Given the description of an element on the screen output the (x, y) to click on. 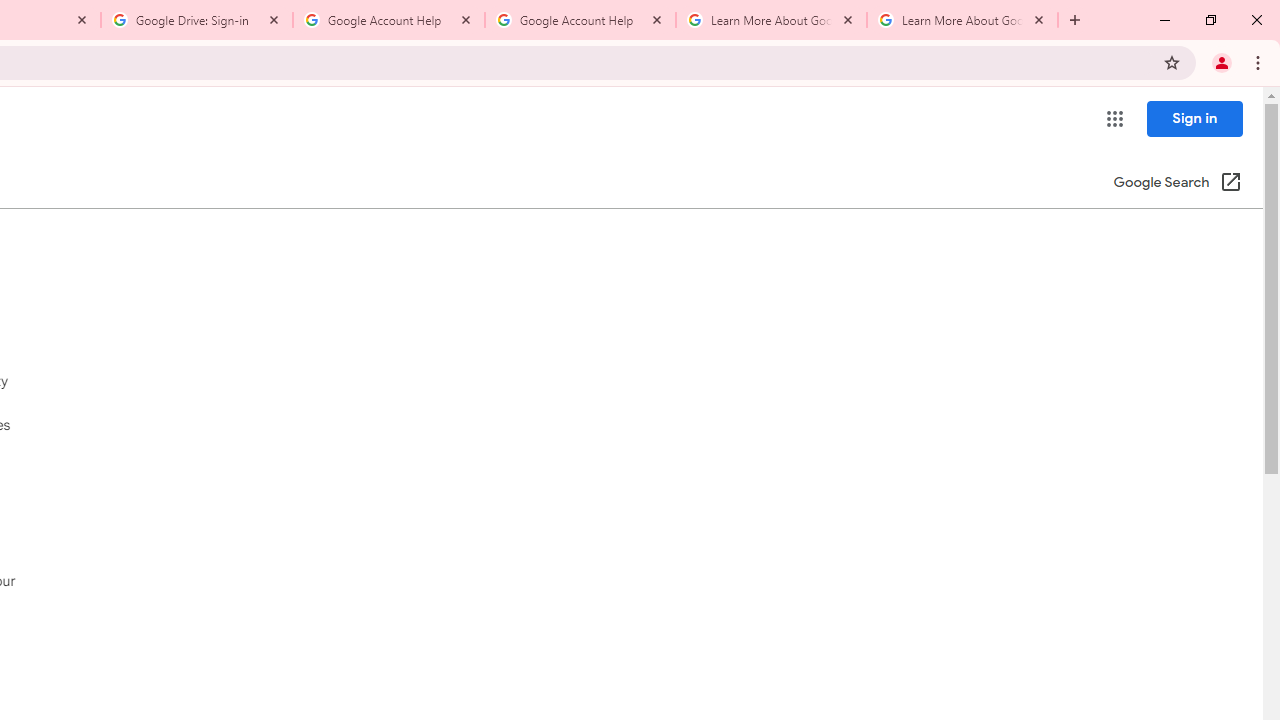
Sign in (1194, 118)
Google Drive: Sign-in (197, 20)
Google Account Help (580, 20)
Google apps (1114, 118)
Google Search (Open in a new window) (1177, 183)
Google Account Help (389, 20)
